Given the description of an element on the screen output the (x, y) to click on. 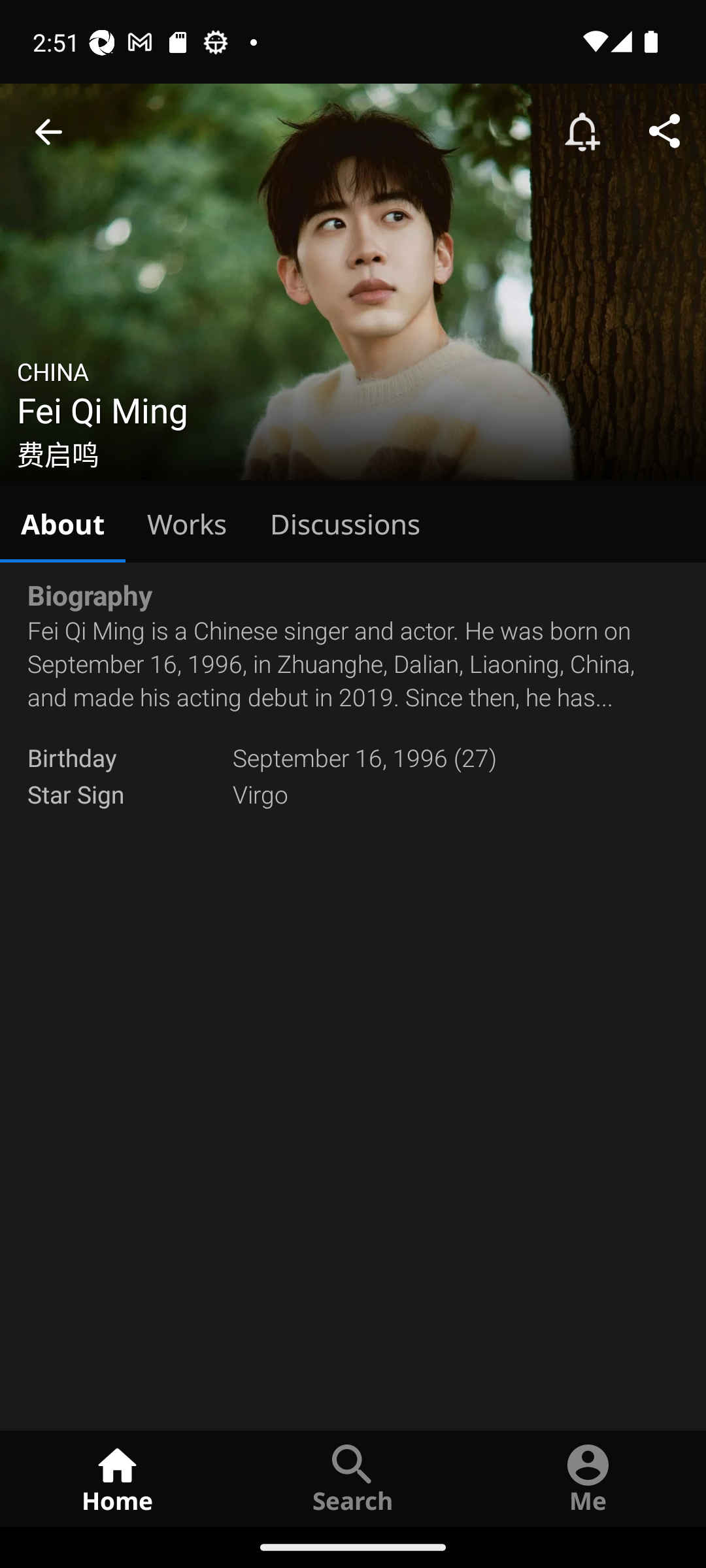
Follow (582, 131)
Share (664, 131)
Works (187, 520)
Discussions (345, 520)
Search (352, 1478)
Me (588, 1478)
